Given the description of an element on the screen output the (x, y) to click on. 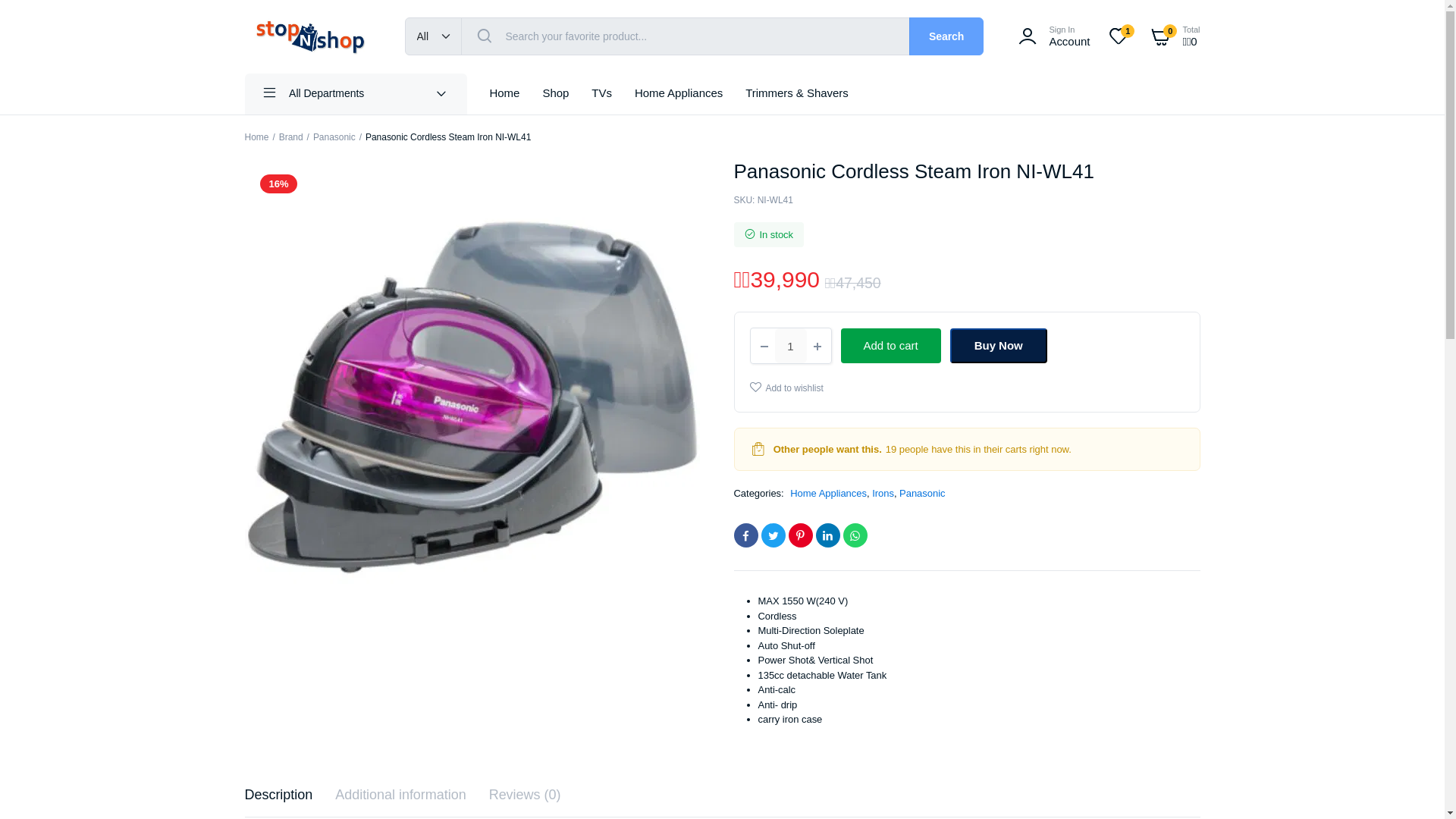
Search (946, 36)
Add to cart (890, 345)
Home (1051, 35)
1 (255, 136)
Shop (1118, 35)
STOPNSHOP (555, 93)
Home Appliances (309, 36)
Add to wishlist (678, 93)
All Departments (785, 387)
Brand (354, 93)
1 (290, 136)
14-12-23-HAN-14.jpg (790, 345)
Home (998, 345)
